Given the description of an element on the screen output the (x, y) to click on. 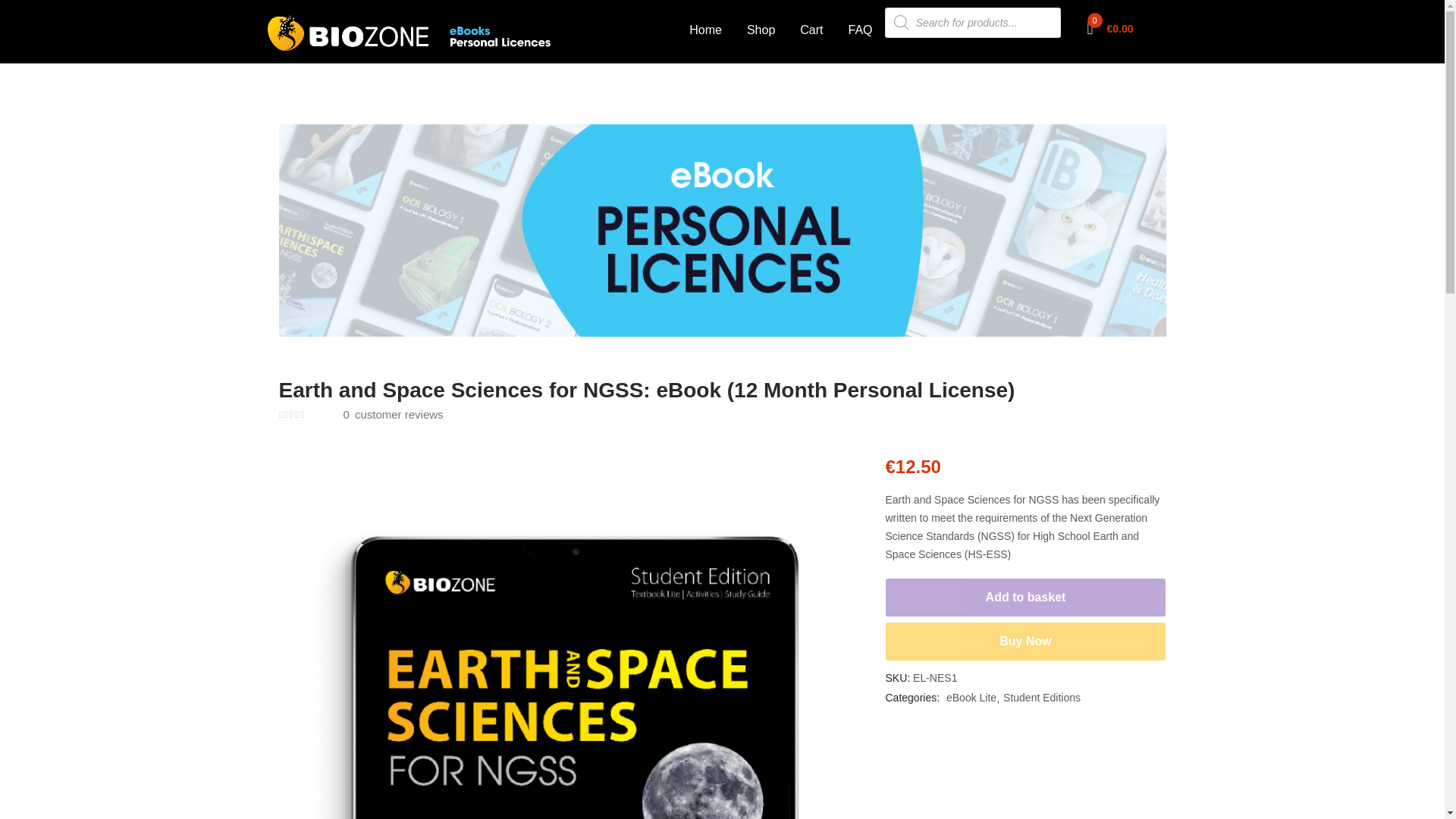
0 customer reviews (391, 413)
eBook Lite (972, 697)
View your shopping cart (1110, 28)
Add to basket (1025, 597)
Student Editions (1041, 697)
Buy Now (1025, 641)
